Given the description of an element on the screen output the (x, y) to click on. 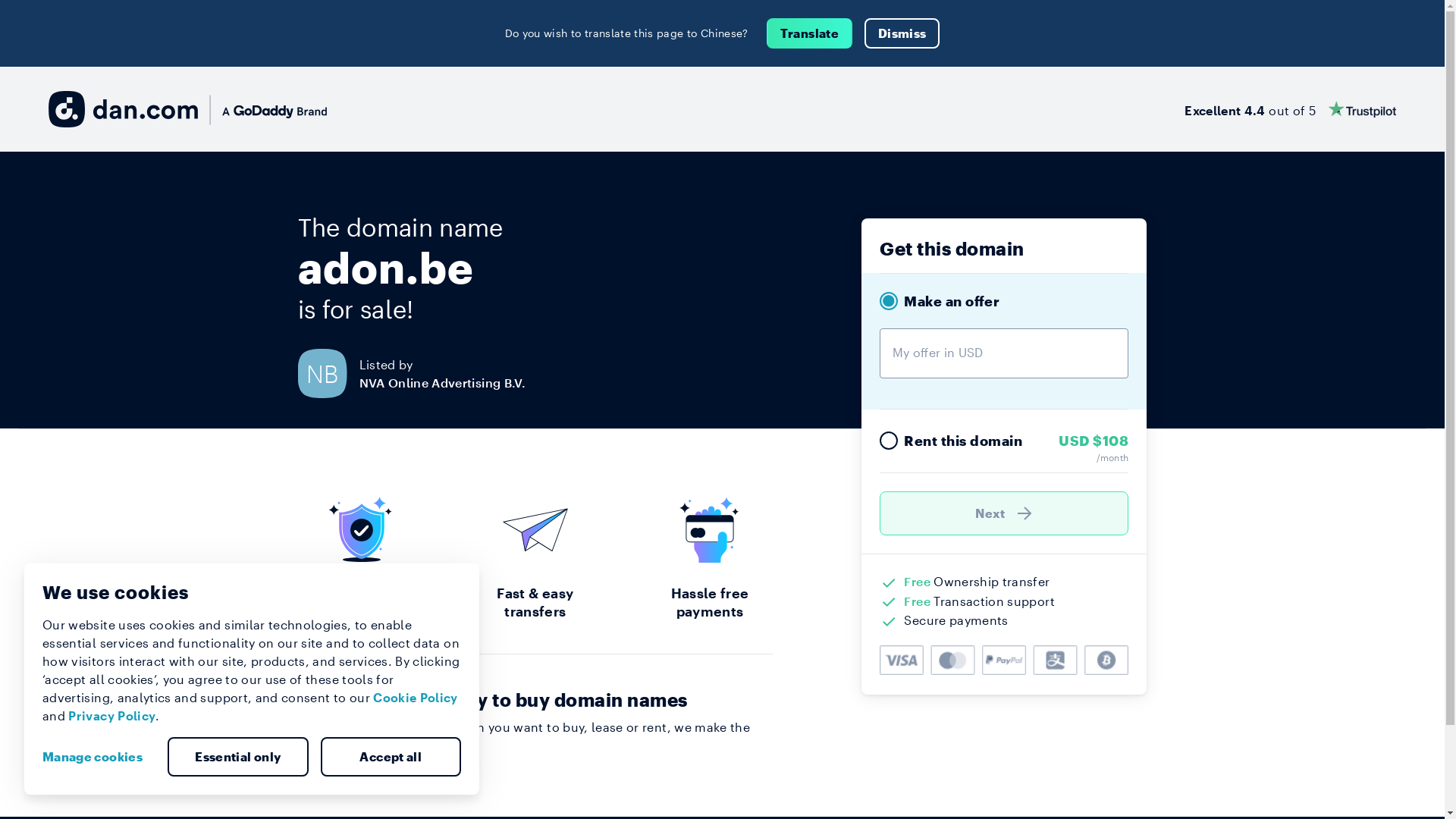
Accept all Element type: text (390, 756)
Privacy Policy Element type: text (111, 715)
Next
) Element type: text (1003, 513)
Translate Element type: text (809, 33)
Excellent 4.4 out of 5 Element type: text (1290, 109)
Manage cookies Element type: text (98, 756)
Cookie Policy Element type: text (415, 697)
Dismiss Element type: text (901, 33)
Essential only Element type: text (237, 756)
